Given the description of an element on the screen output the (x, y) to click on. 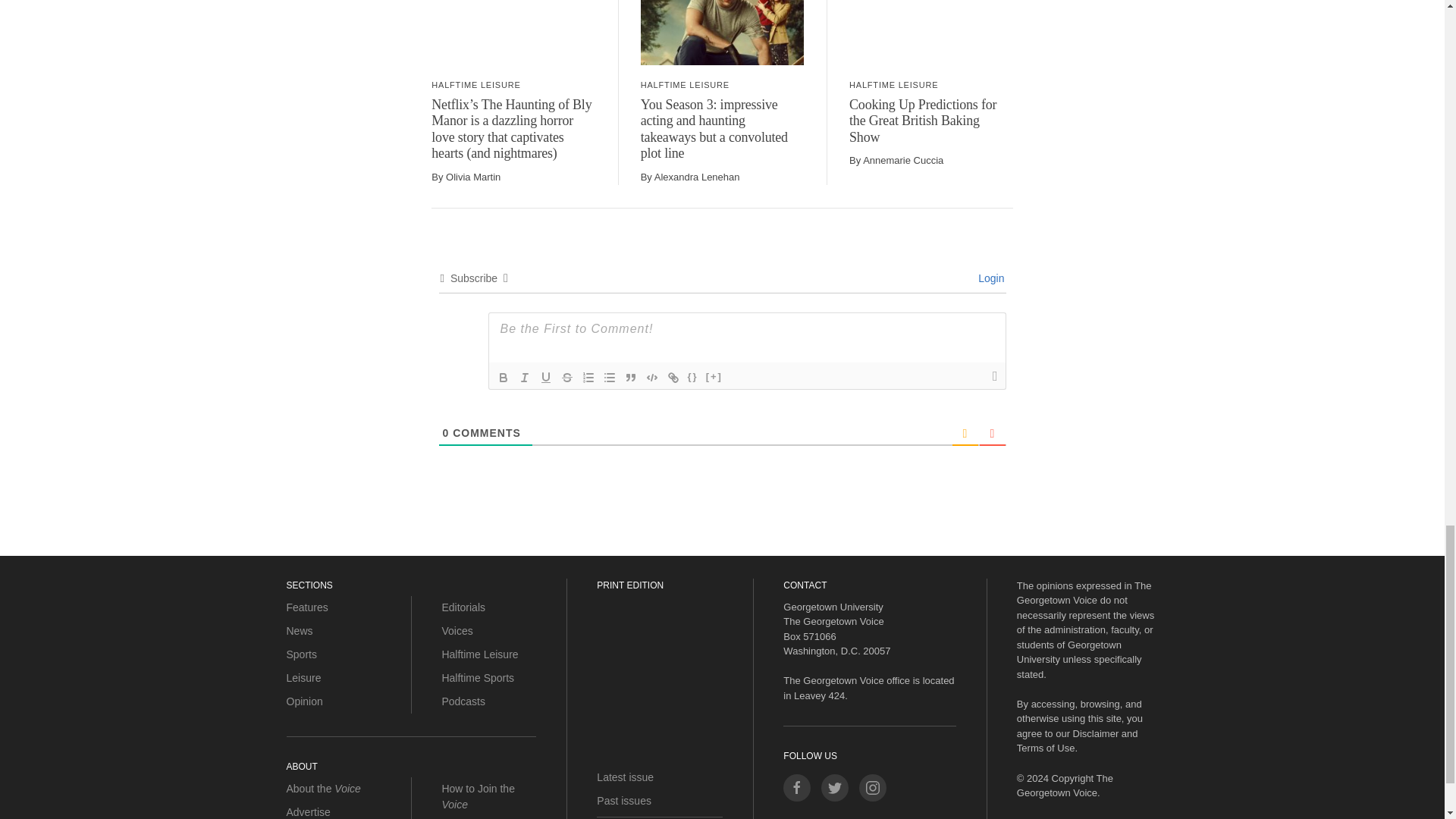
Strike (567, 377)
Blockquote (631, 377)
Italic (524, 377)
Spoiler (713, 377)
Underline (545, 377)
Bold (503, 377)
Source Code (692, 377)
Posts by Annemarie Cuccia (903, 160)
Posts by Olivia Martin (472, 176)
Link (673, 377)
Unordered List (609, 377)
Code Block (652, 377)
Posts by Alexandra Lenehan (696, 176)
Ordered List (588, 377)
